Given the description of an element on the screen output the (x, y) to click on. 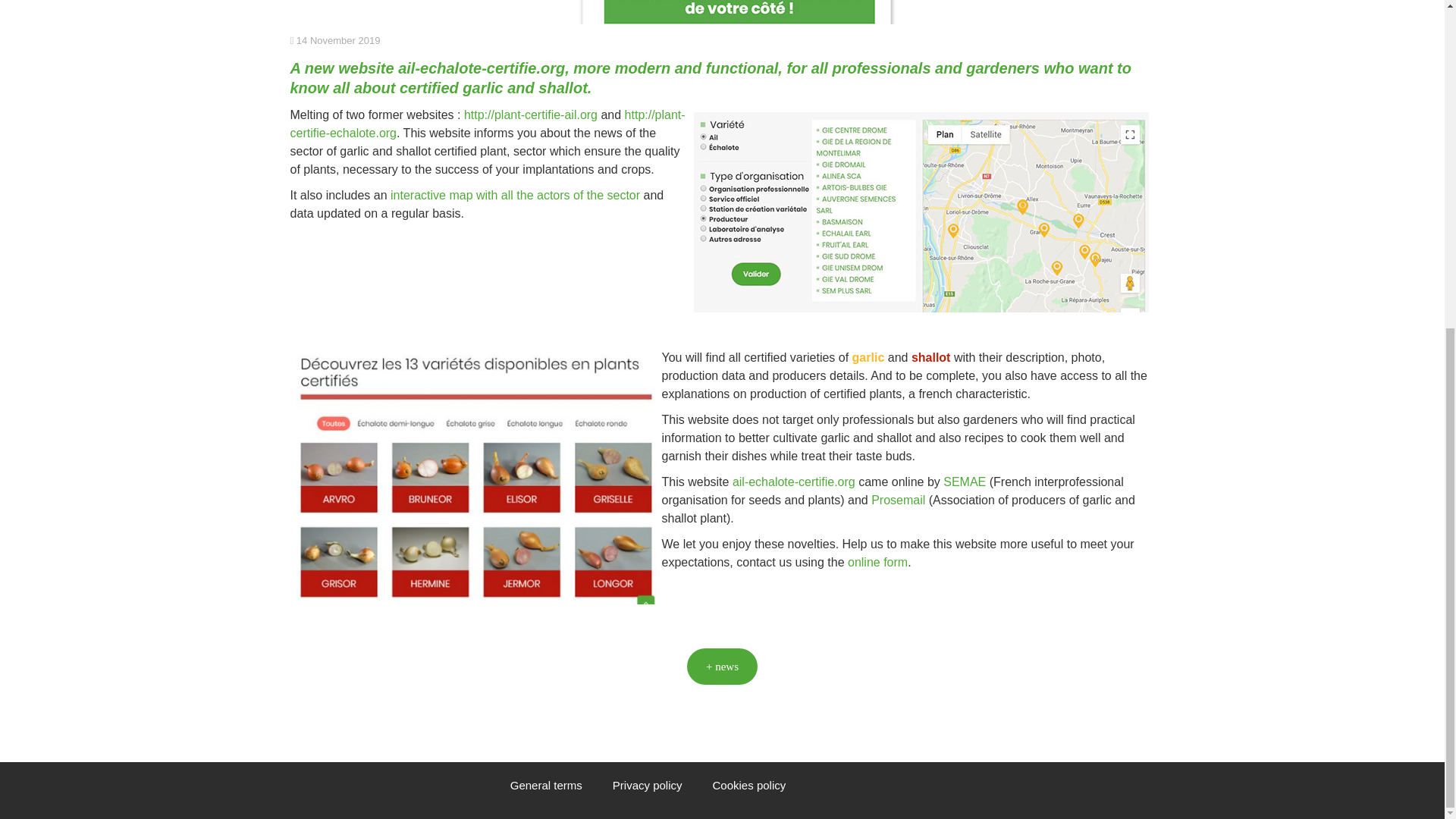
garlic (868, 357)
SEMAE (964, 481)
interactive map with all the actors of the sector (515, 195)
ail-echalote-certifie.org (794, 481)
ail-echalote-certifie.org (480, 67)
shallot (930, 357)
Prosemail (897, 499)
online form (877, 562)
